Given the description of an element on the screen output the (x, y) to click on. 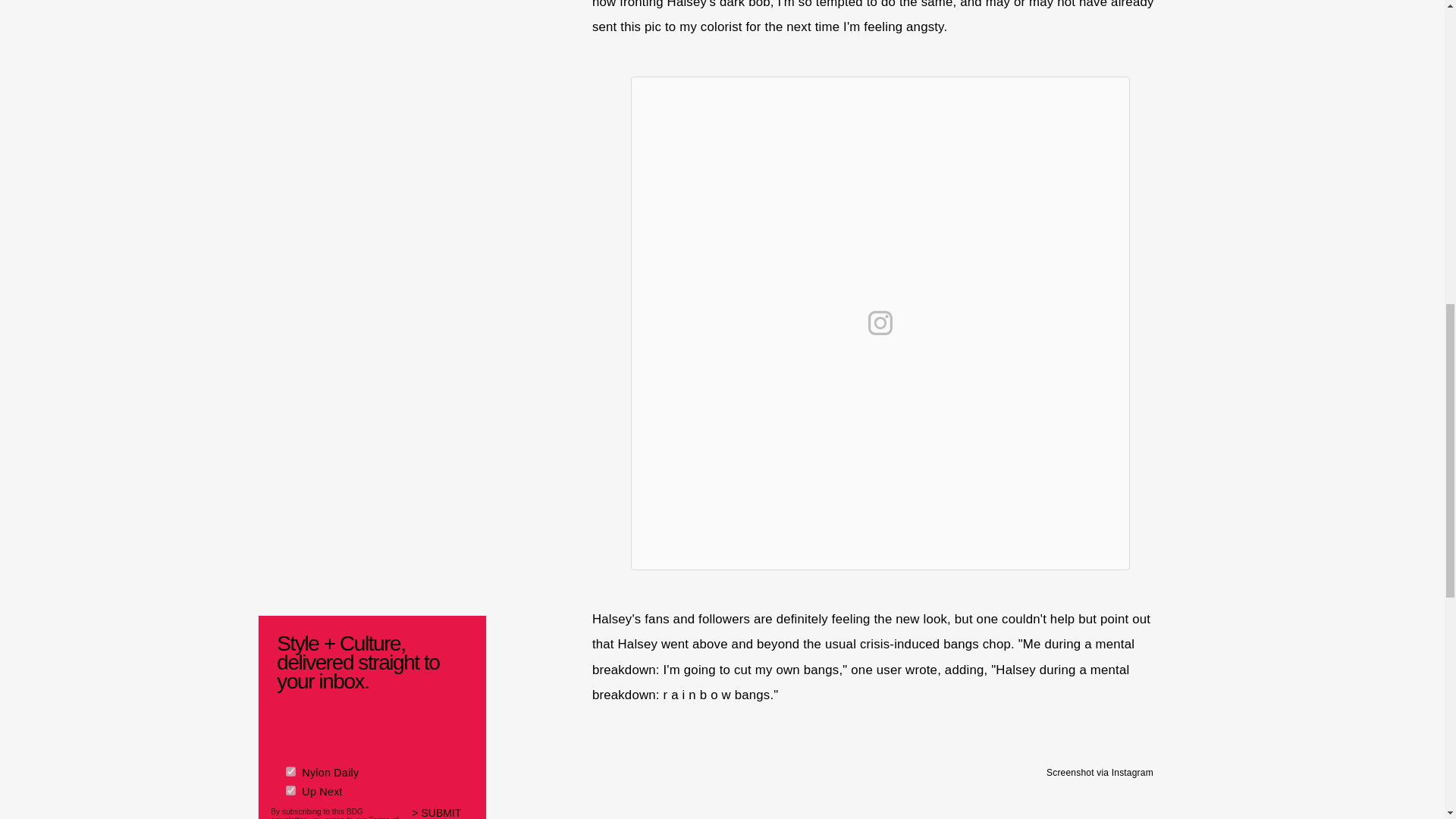
SUBMIT (443, 813)
View on Instagram (879, 322)
Terms of Service (333, 817)
